Given the description of an element on the screen output the (x, y) to click on. 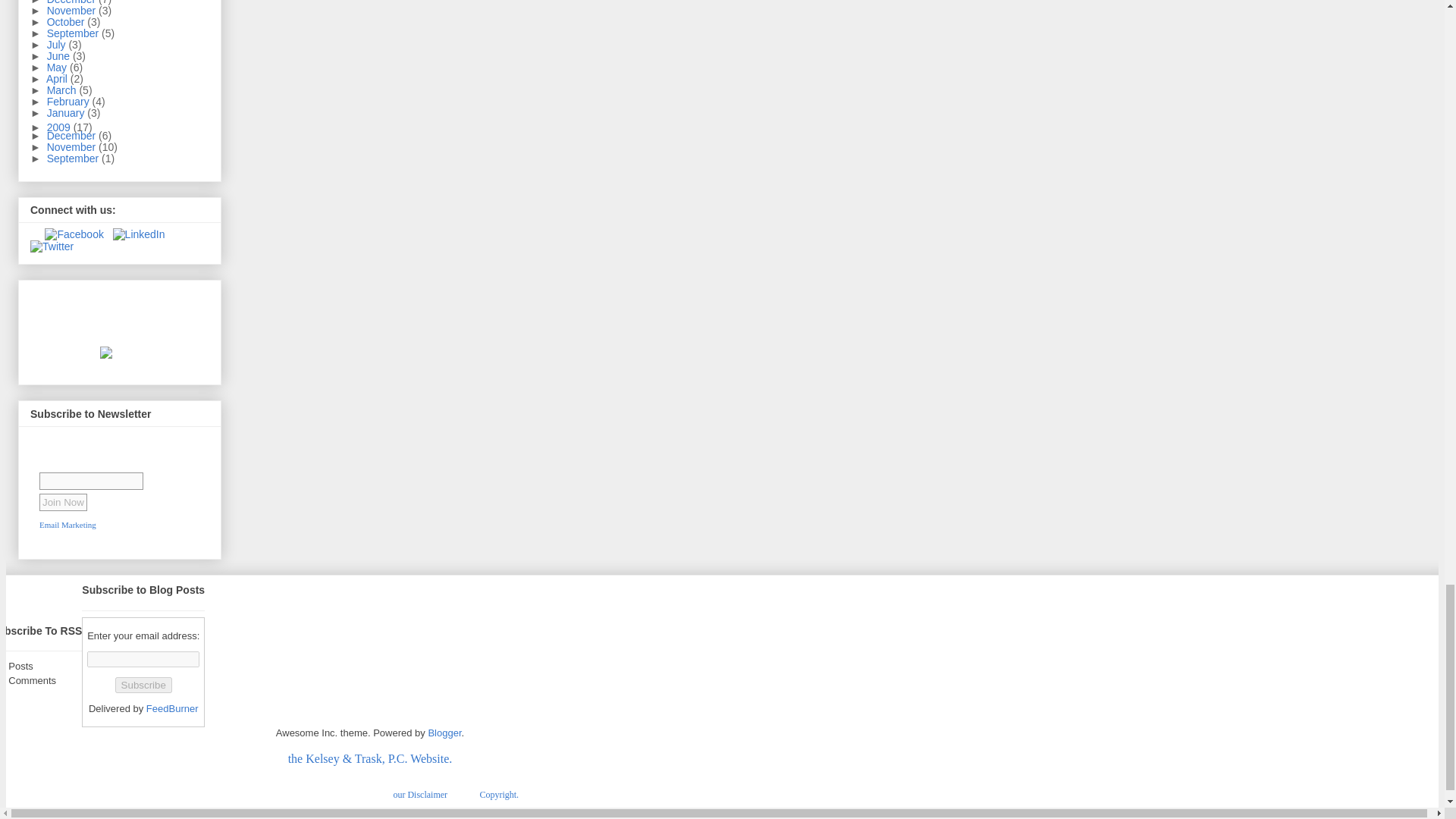
Visit our Twitter Pages (52, 246)
Join Now (63, 502)
Visit our LinkedIn Pages (139, 234)
Become a Facebook Fan (74, 234)
Subscribe (143, 684)
